Given the description of an element on the screen output the (x, y) to click on. 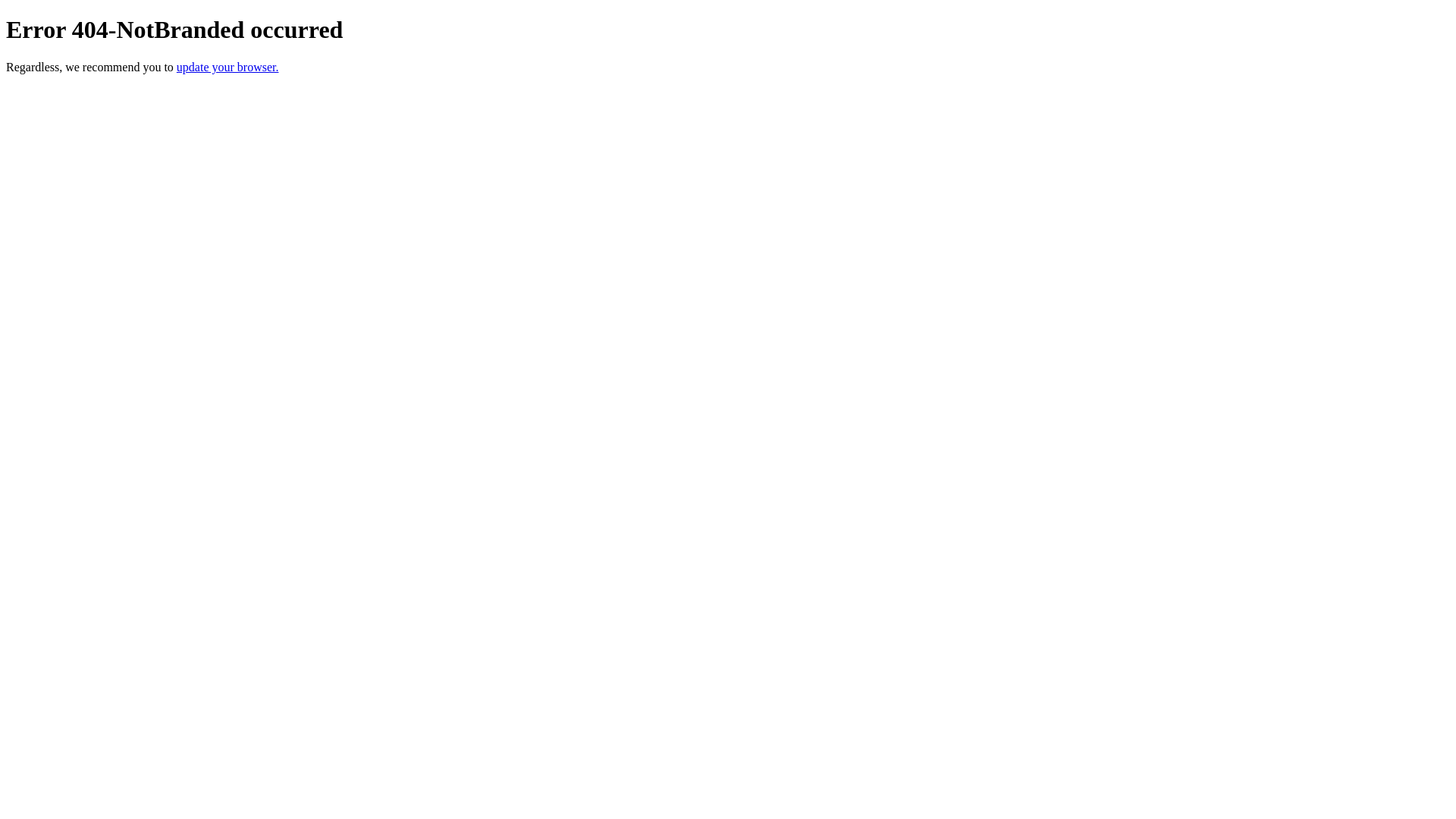
update your browser. Element type: text (227, 66)
